Given the description of an element on the screen output the (x, y) to click on. 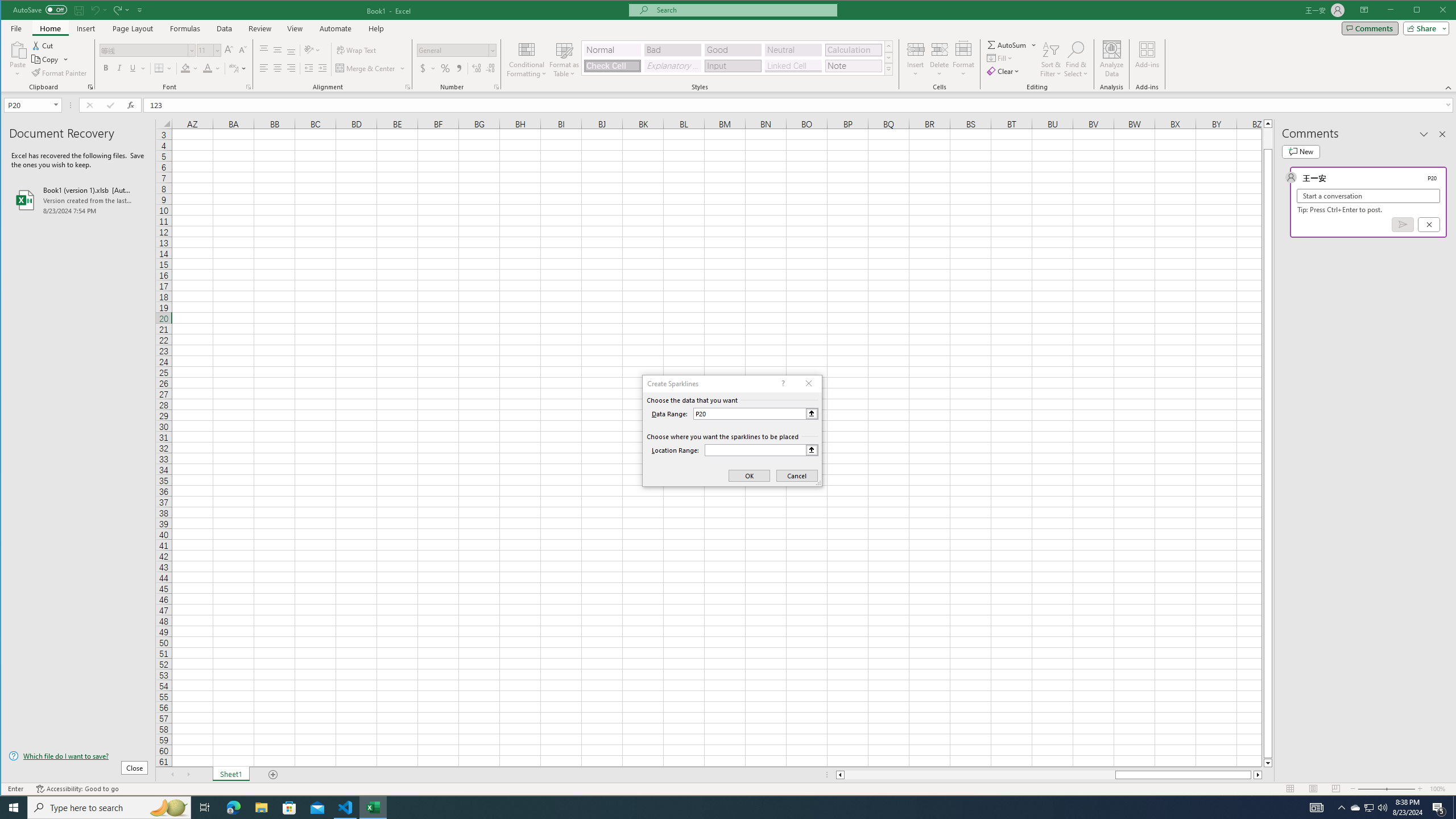
Delete Cells... (939, 48)
Number Format (456, 49)
Conditional Formatting (526, 59)
Font Size (208, 49)
Format Cell Font (248, 86)
Check Cell (612, 65)
Decrease Decimal (489, 68)
Decrease Indent (308, 68)
Office Clipboard... (89, 86)
